Given the description of an element on the screen output the (x, y) to click on. 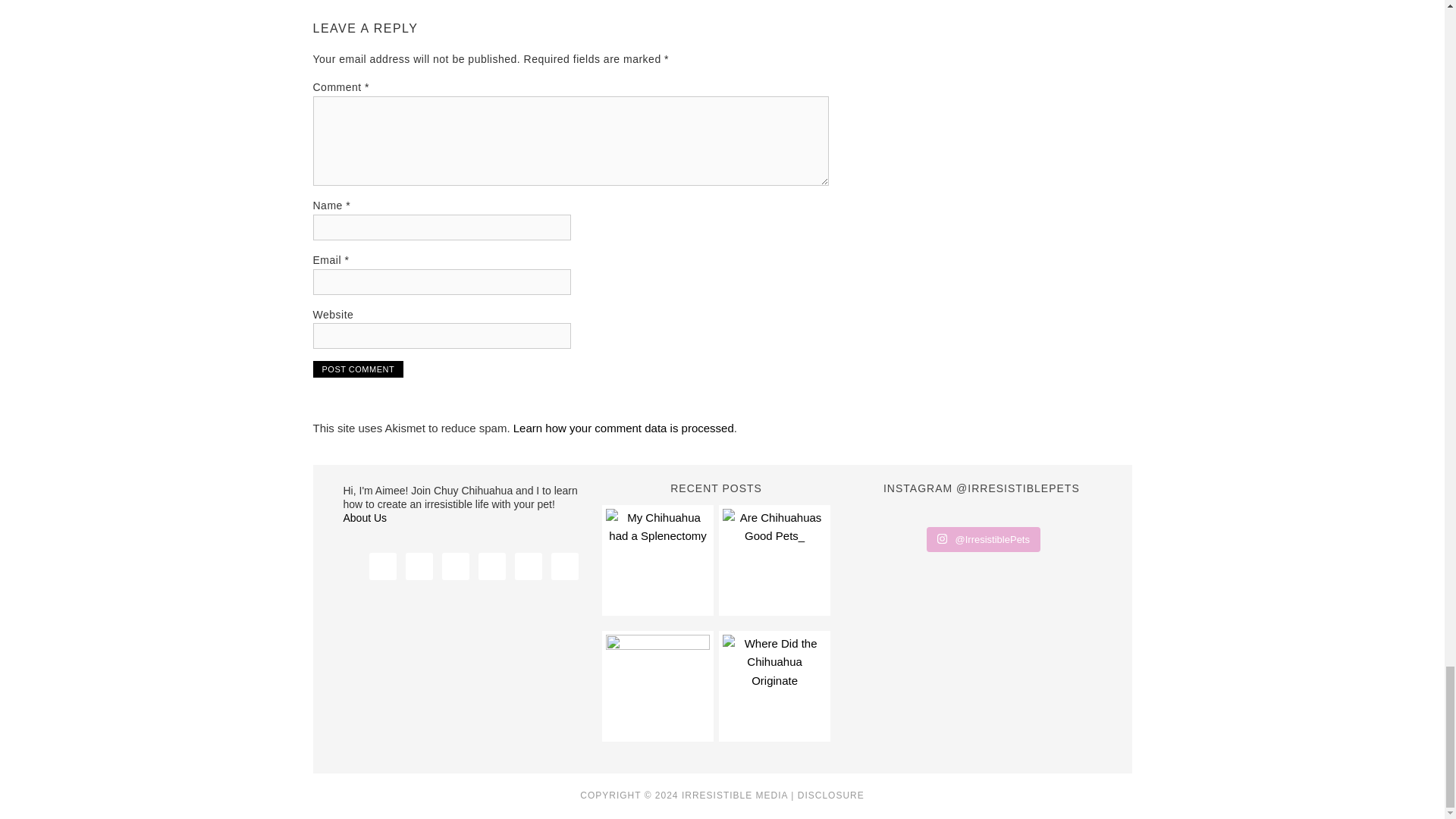
Post Comment (358, 369)
Post Comment (358, 369)
Where Did the Chihuahua Originate? (773, 685)
Learn how your comment data is processed (623, 427)
My Chihuahua Had a Splenectomy (657, 558)
Are Chihuahuas Good Pets? (773, 558)
